Given the description of an element on the screen output the (x, y) to click on. 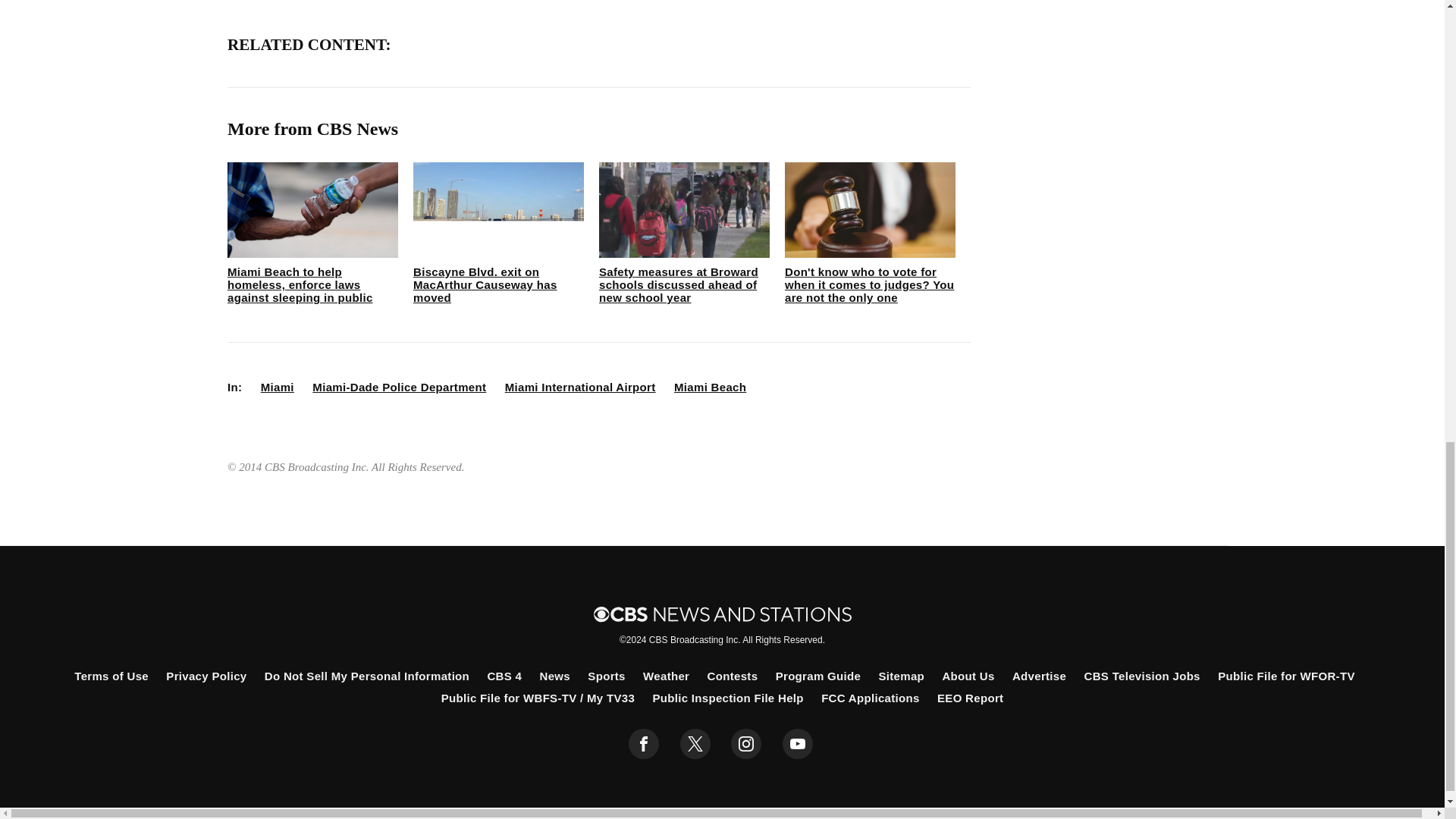
youtube (797, 743)
instagram (745, 743)
twitter (694, 743)
facebook (643, 743)
